Given the description of an element on the screen output the (x, y) to click on. 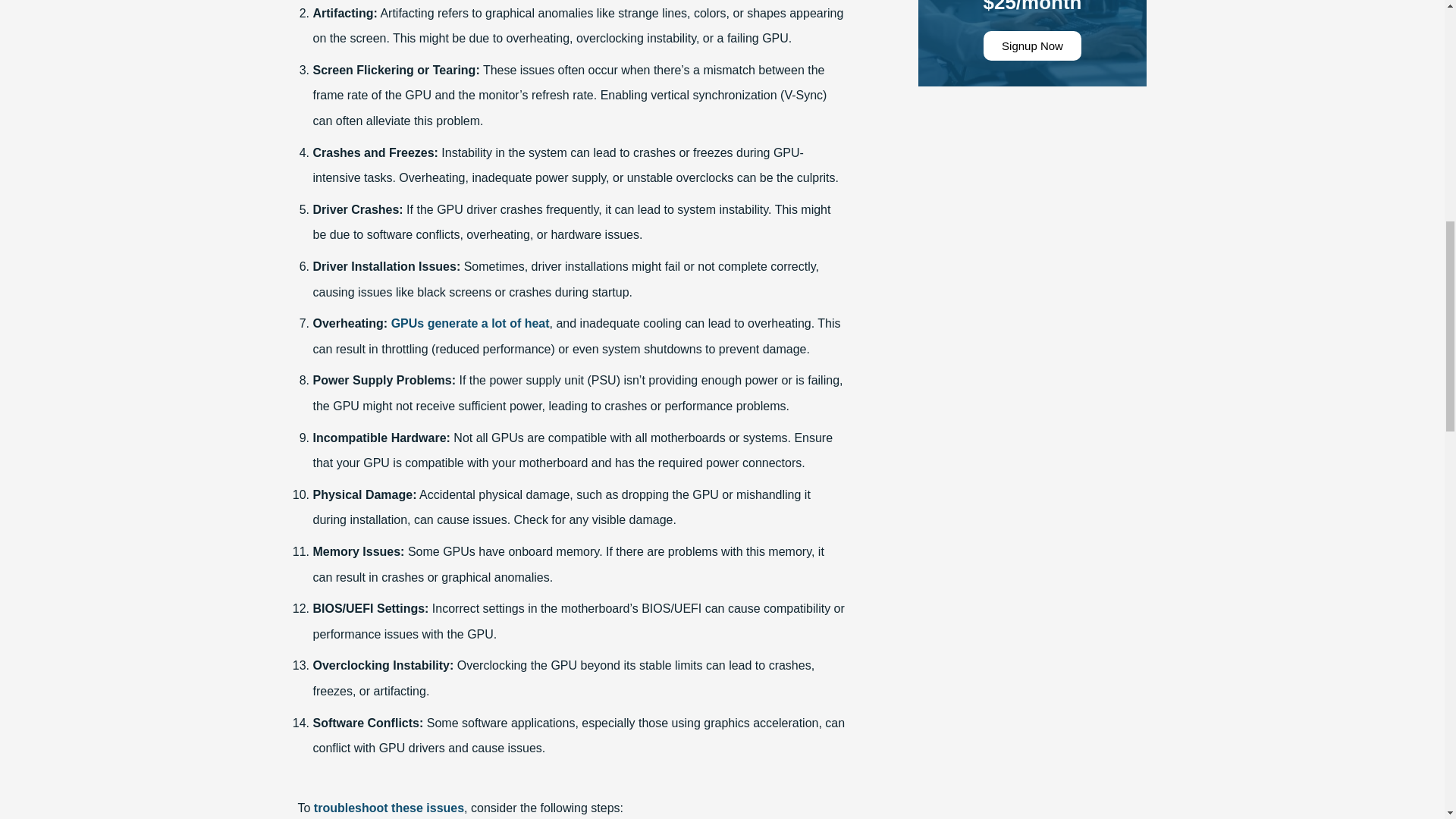
Advertisement (1032, 196)
